Given the description of an element on the screen output the (x, y) to click on. 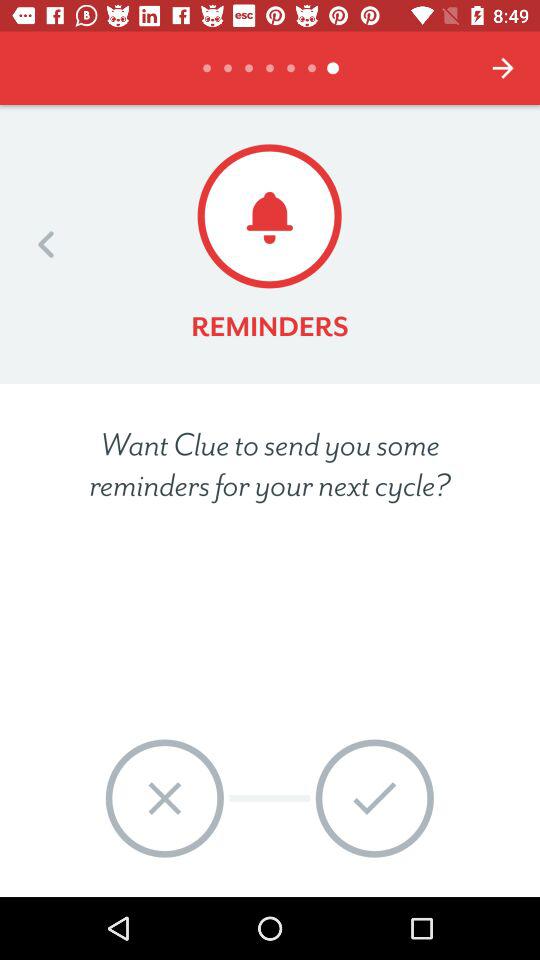
turn off item at the bottom left corner (164, 798)
